Given the description of an element on the screen output the (x, y) to click on. 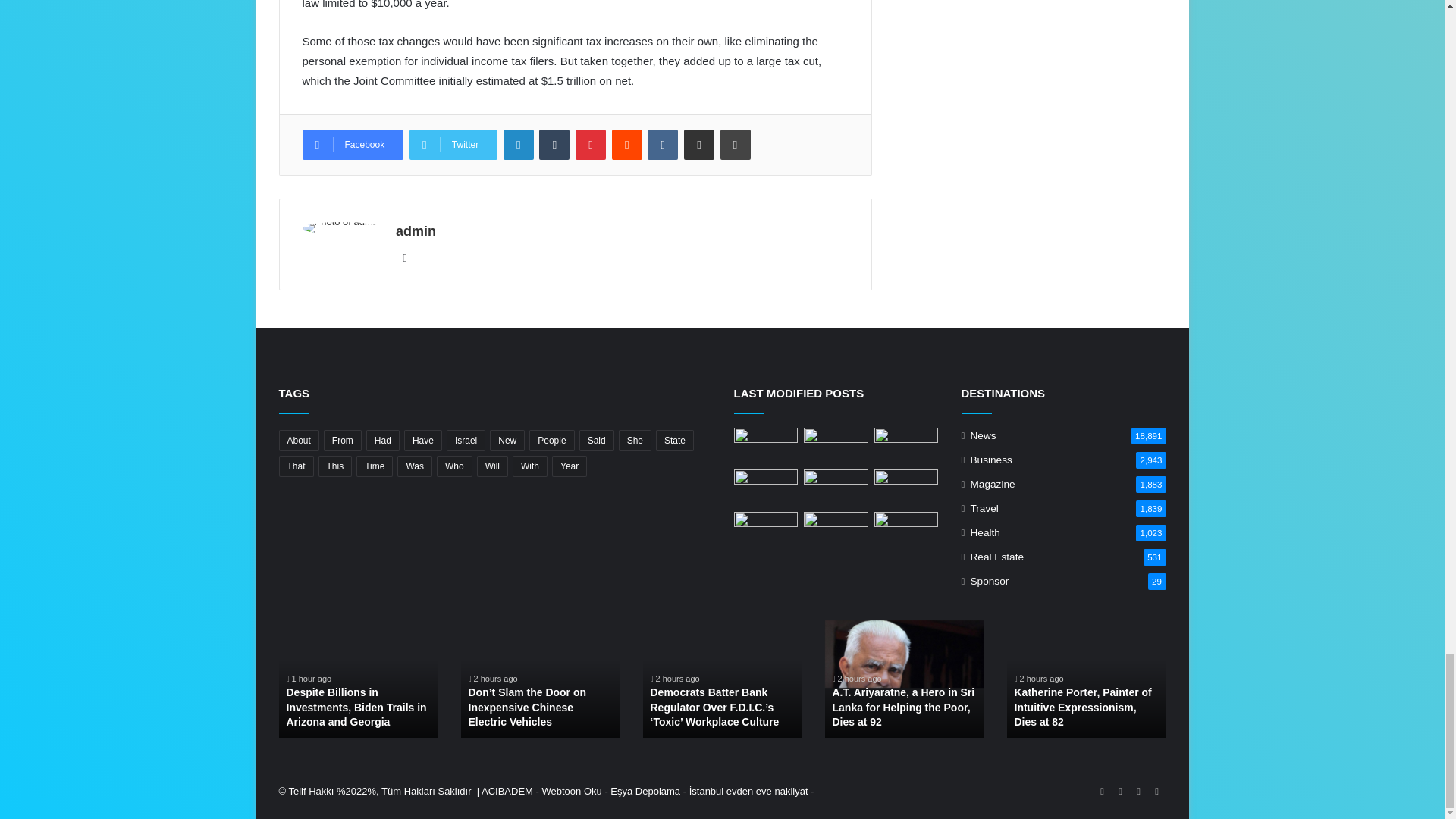
VKontakte (662, 144)
Pinterest (590, 144)
Twitter (453, 144)
Print (735, 144)
Reddit (626, 144)
Tumblr (553, 144)
Share via Email (699, 144)
Reddit (626, 144)
LinkedIn (518, 144)
Tumblr (553, 144)
